Given the description of an element on the screen output the (x, y) to click on. 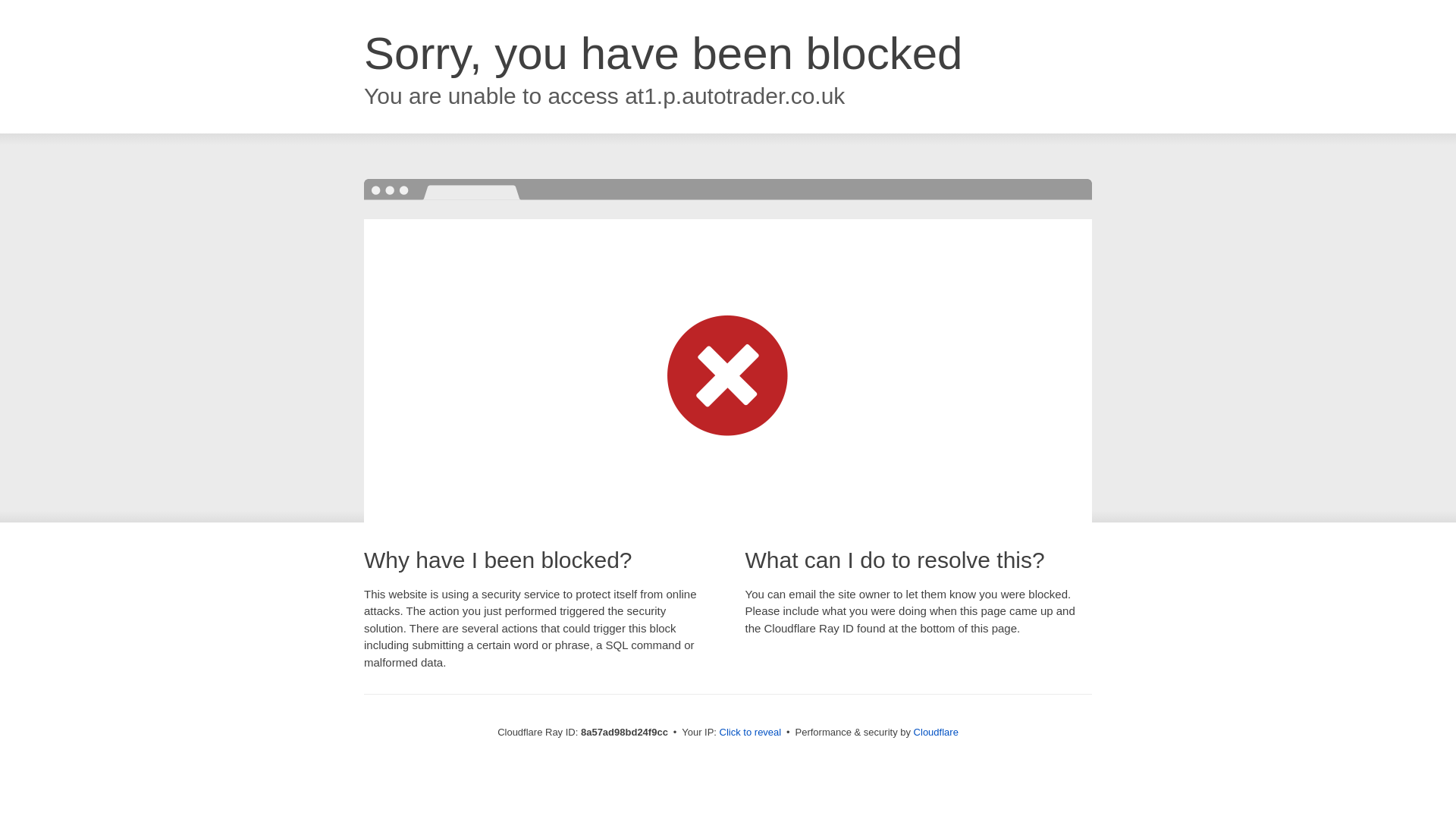
Cloudflare (936, 731)
Click to reveal (750, 732)
